Given the description of an element on the screen output the (x, y) to click on. 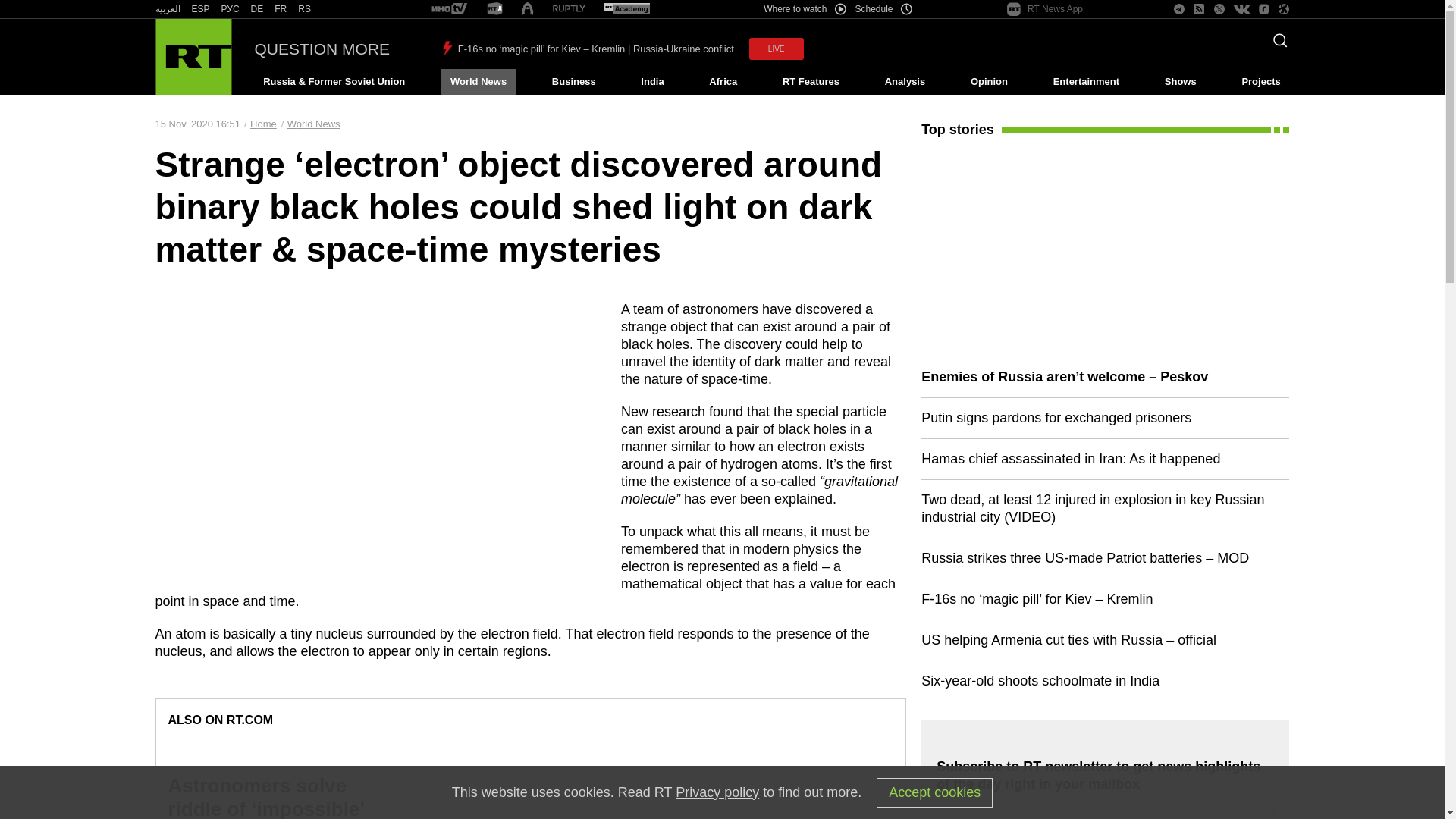
Opinion (988, 81)
RT  (280, 9)
RT  (199, 9)
Where to watch (803, 9)
Search (1276, 44)
RT  (448, 9)
RT  (304, 9)
LIVE (776, 48)
RT  (230, 9)
DE (256, 9)
India (651, 81)
Shows (1180, 81)
RT  (626, 9)
Projects (1261, 81)
World News (478, 81)
